Given the description of an element on the screen output the (x, y) to click on. 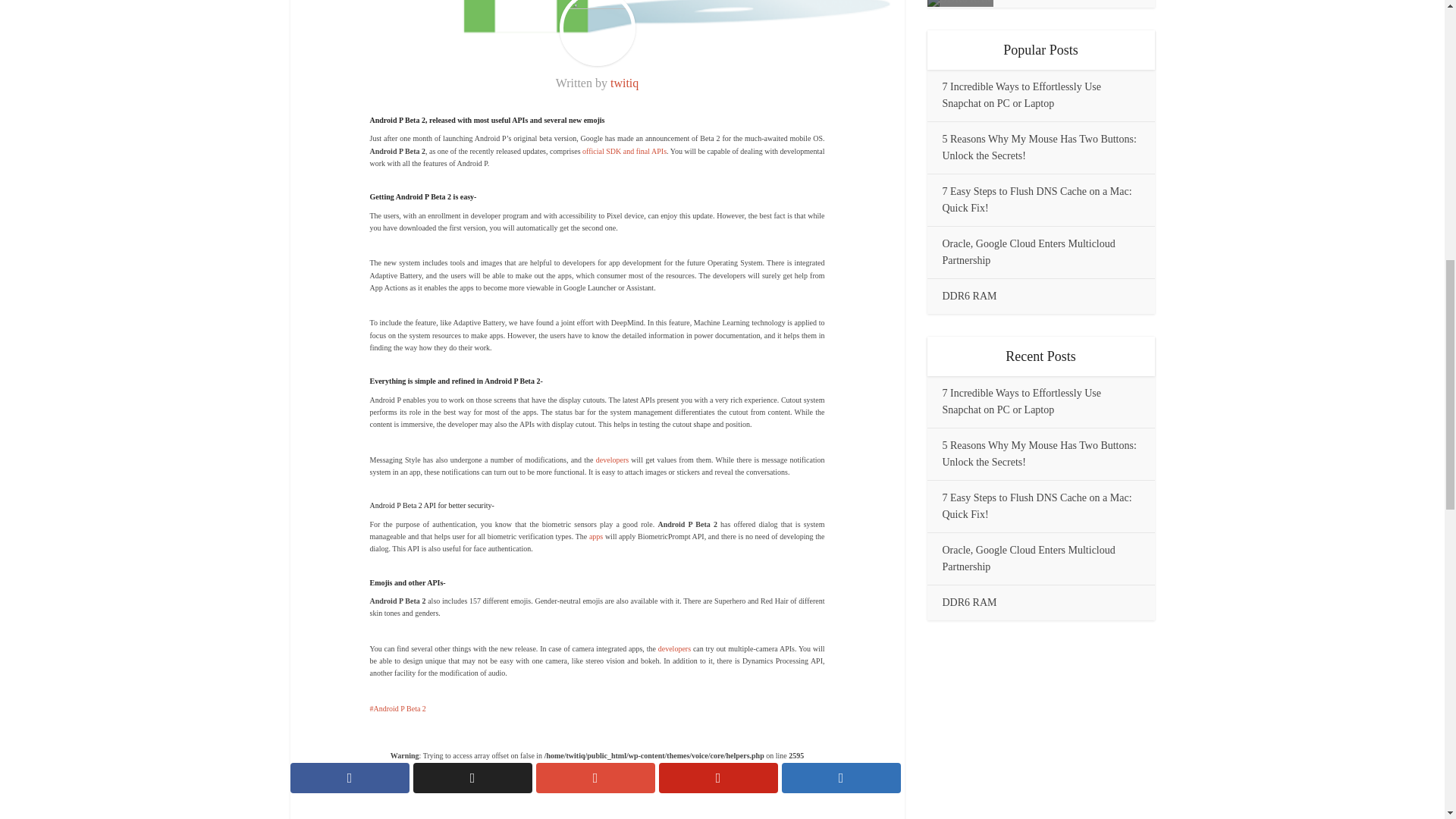
developers (611, 459)
twitiq (624, 82)
official SDK and final APIs (624, 151)
apps (595, 536)
